Given the description of an element on the screen output the (x, y) to click on. 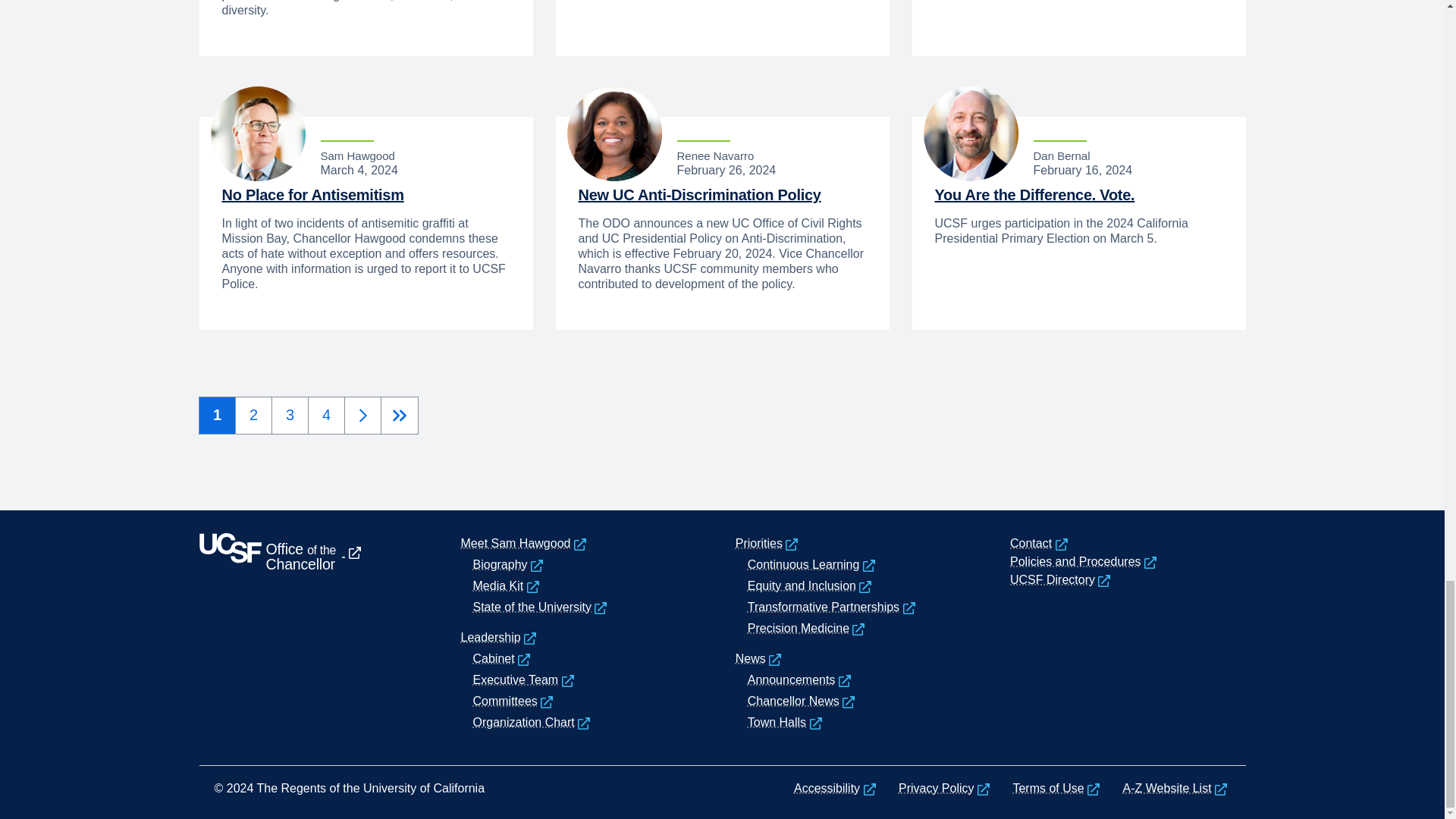
Go to page 3 (289, 415)
Office of the Chancellor homepage (302, 637)
Go to page 4 (325, 415)
Go to last page (398, 415)
Go to next page (362, 415)
Go to page 2 (252, 415)
Current page (216, 415)
